Given the description of an element on the screen output the (x, y) to click on. 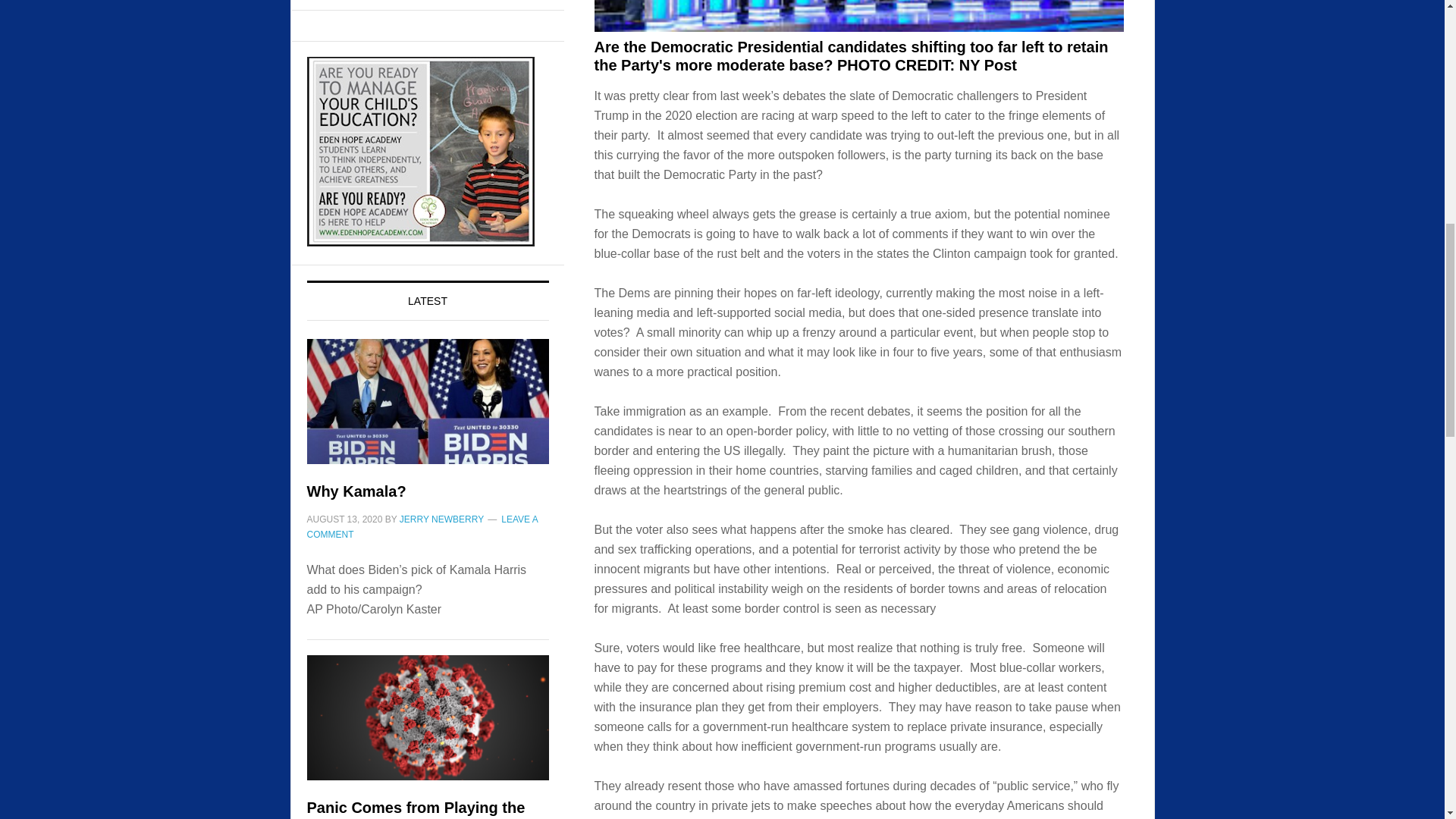
Why Kamala? (355, 491)
JERRY NEWBERRY (440, 519)
